Given the description of an element on the screen output the (x, y) to click on. 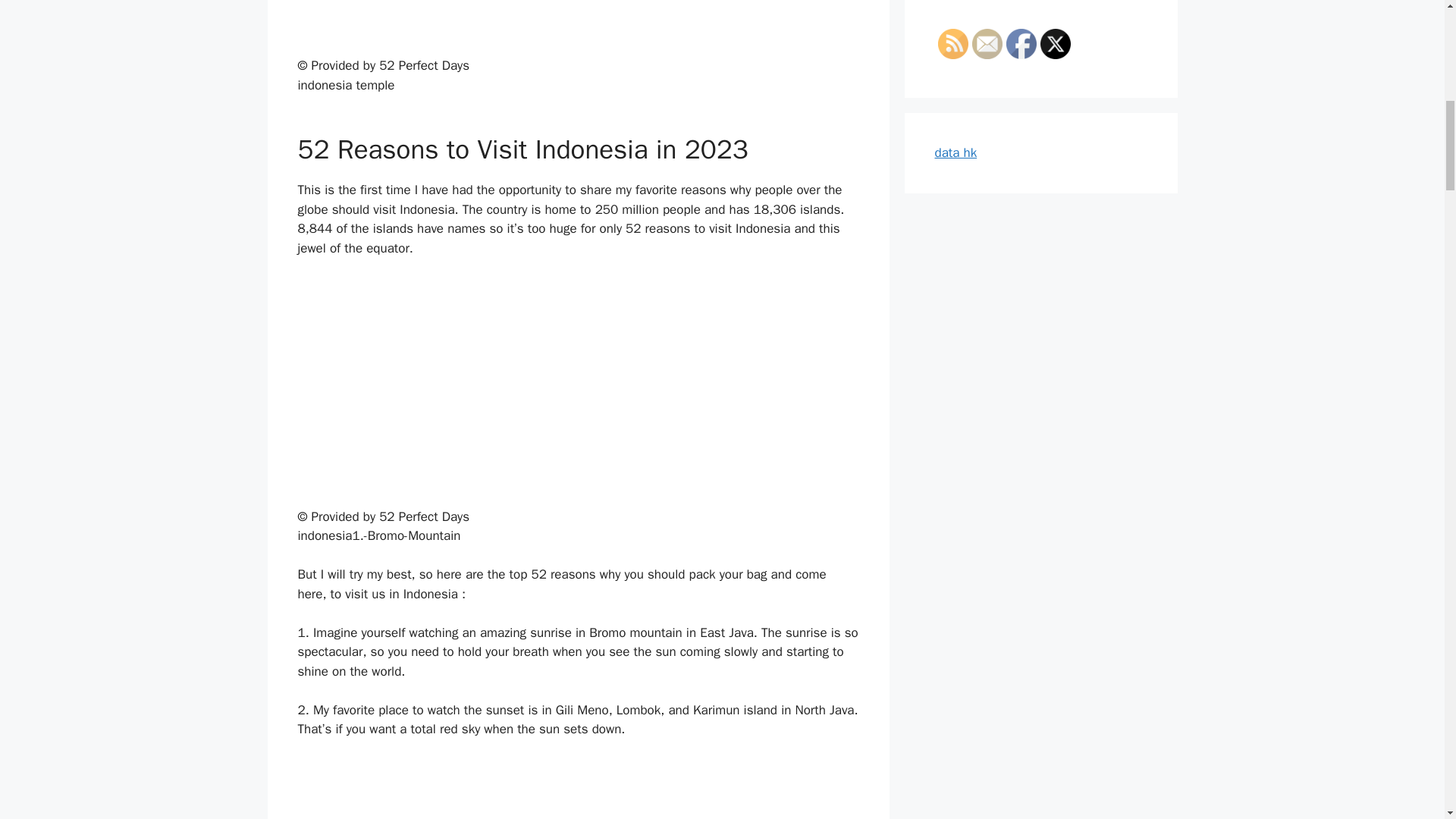
Follow by Email (987, 43)
RSS (952, 43)
Facebook (1020, 43)
Twitter (1055, 43)
